Given the description of an element on the screen output the (x, y) to click on. 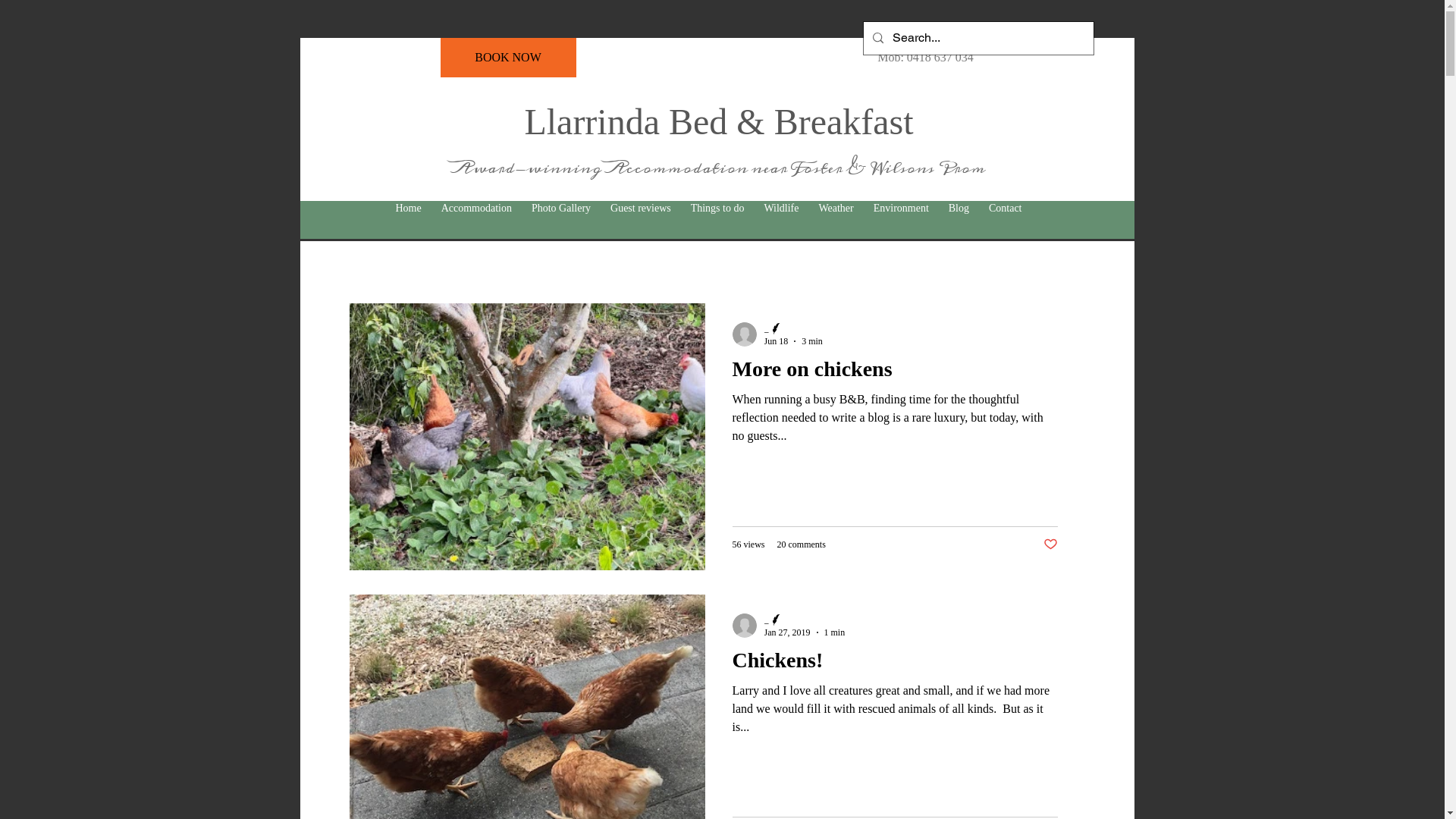
Mob: 0418 637 034 Element type: text (925, 57)
Photo Gallery Element type: text (560, 208)
More on chickens Element type: text (894, 373)
Contact Element type: text (1005, 208)
Accommodation Element type: text (476, 208)
Things to do Element type: text (717, 208)
Blog Element type: text (958, 208)
Guest reviews Element type: text (640, 208)
Post not marked as liked Element type: text (1050, 544)
BOOK NOW Element type: text (507, 57)
20 comments Element type: text (800, 544)
Weather Element type: text (835, 208)
Home Element type: text (407, 208)
Wildlife Element type: text (780, 208)
Environment Element type: text (900, 208)
Chickens! Element type: text (894, 664)
